Given the description of an element on the screen output the (x, y) to click on. 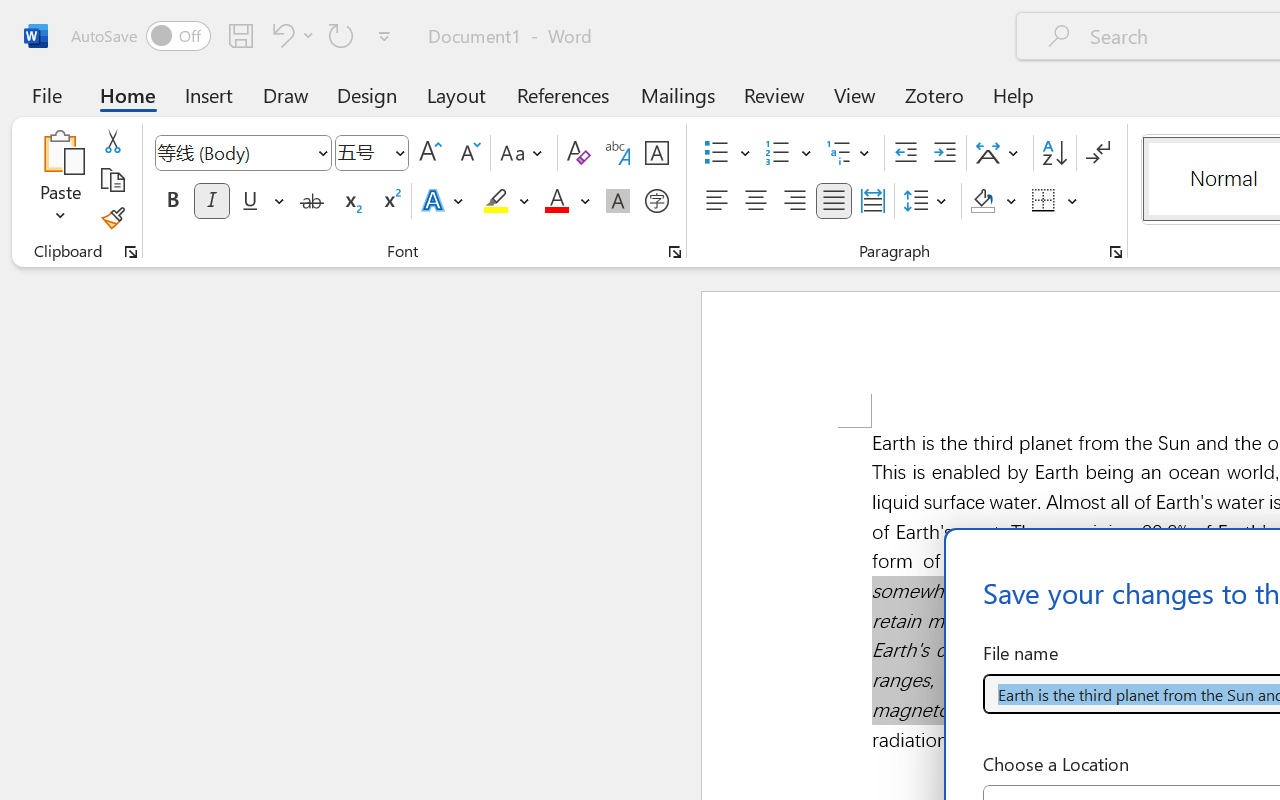
Help (1013, 94)
Copy (112, 179)
Italic (212, 201)
Text Highlight Color (506, 201)
Text Effects and Typography (444, 201)
Superscript (390, 201)
Increase Indent (944, 153)
